Given the description of an element on the screen output the (x, y) to click on. 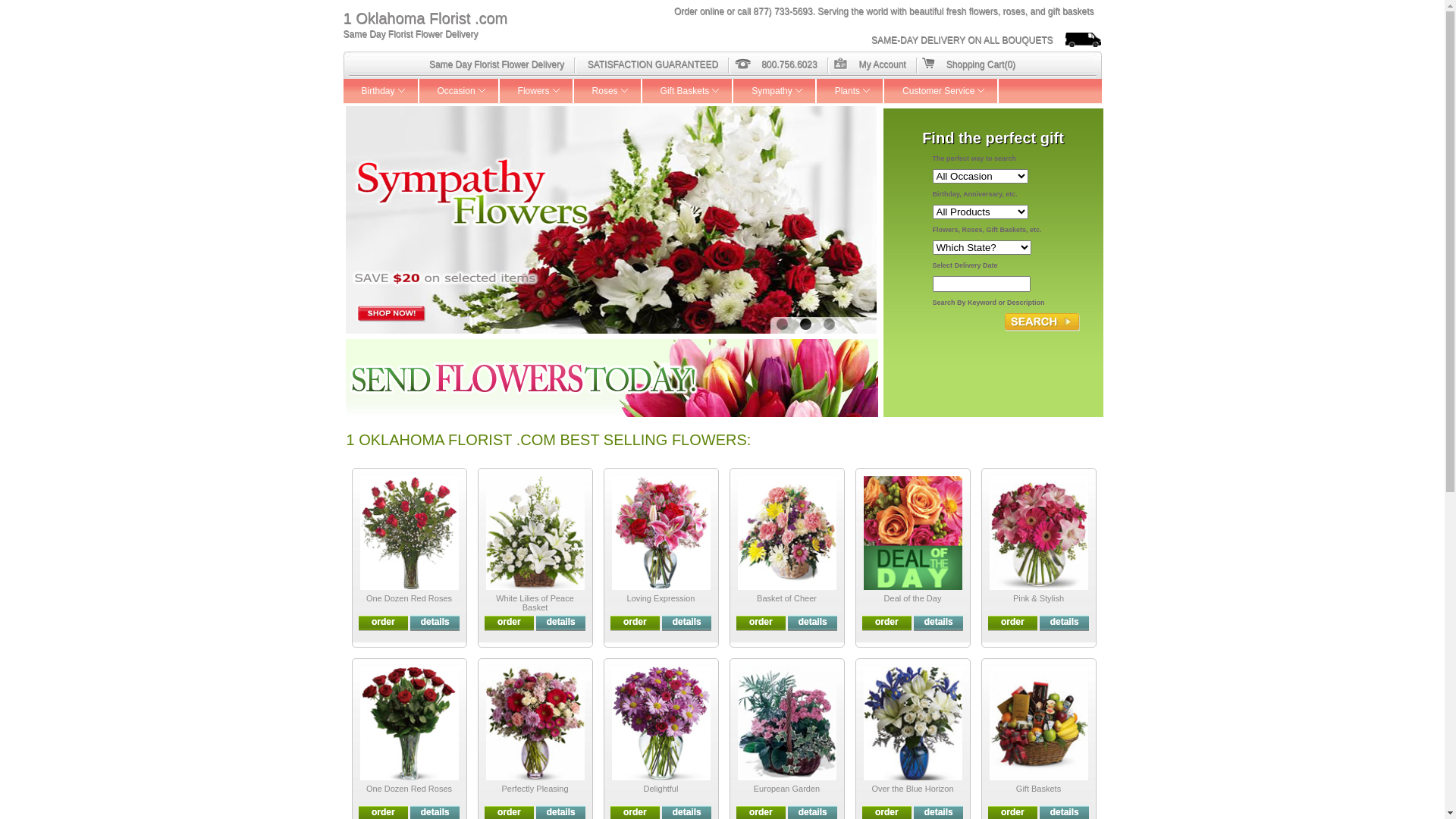
Basket of Cheer Element type: text (786, 597)
details Element type: text (812, 811)
Over the Blue Horizon Element type: text (912, 788)
order Element type: text (760, 621)
Search Element type: text (1041, 322)
details Element type: text (560, 621)
order Element type: text (382, 621)
details Element type: text (686, 811)
European Garden Element type: text (786, 788)
details Element type: text (1063, 621)
One Dozen Red Roses Element type: text (408, 597)
Gift Baskets Element type: text (688, 90)
details Element type: text (686, 621)
Plants Element type: text (850, 90)
order Element type: text (1012, 621)
details Element type: text (1063, 811)
Gift Baskets Element type: text (1038, 788)
order Element type: text (634, 811)
Pink & Stylish Element type: text (1038, 597)
White Lilies of Peace Basket Element type: text (534, 602)
details Element type: text (434, 621)
order Element type: text (508, 621)
Deal of the Day Element type: text (912, 597)
order Element type: text (1012, 811)
order Element type: text (886, 621)
Flowers Element type: text (536, 90)
Roses Element type: text (608, 90)
details Element type: text (434, 811)
order Element type: text (886, 811)
order Element type: text (760, 811)
Occasion Element type: text (459, 90)
Customer Service Element type: text (941, 90)
Loving Expression Element type: text (661, 597)
Birthday Element type: text (380, 90)
One Dozen Red Roses Element type: text (408, 788)
order Element type: text (634, 621)
order Element type: text (508, 811)
Sympathy Element type: text (774, 90)
details Element type: text (938, 621)
details Element type: text (560, 811)
Delightful Element type: text (660, 788)
details Element type: text (812, 621)
details Element type: text (938, 811)
order Element type: text (382, 811)
Perfectly Pleasing Element type: text (534, 788)
